Given the description of an element on the screen output the (x, y) to click on. 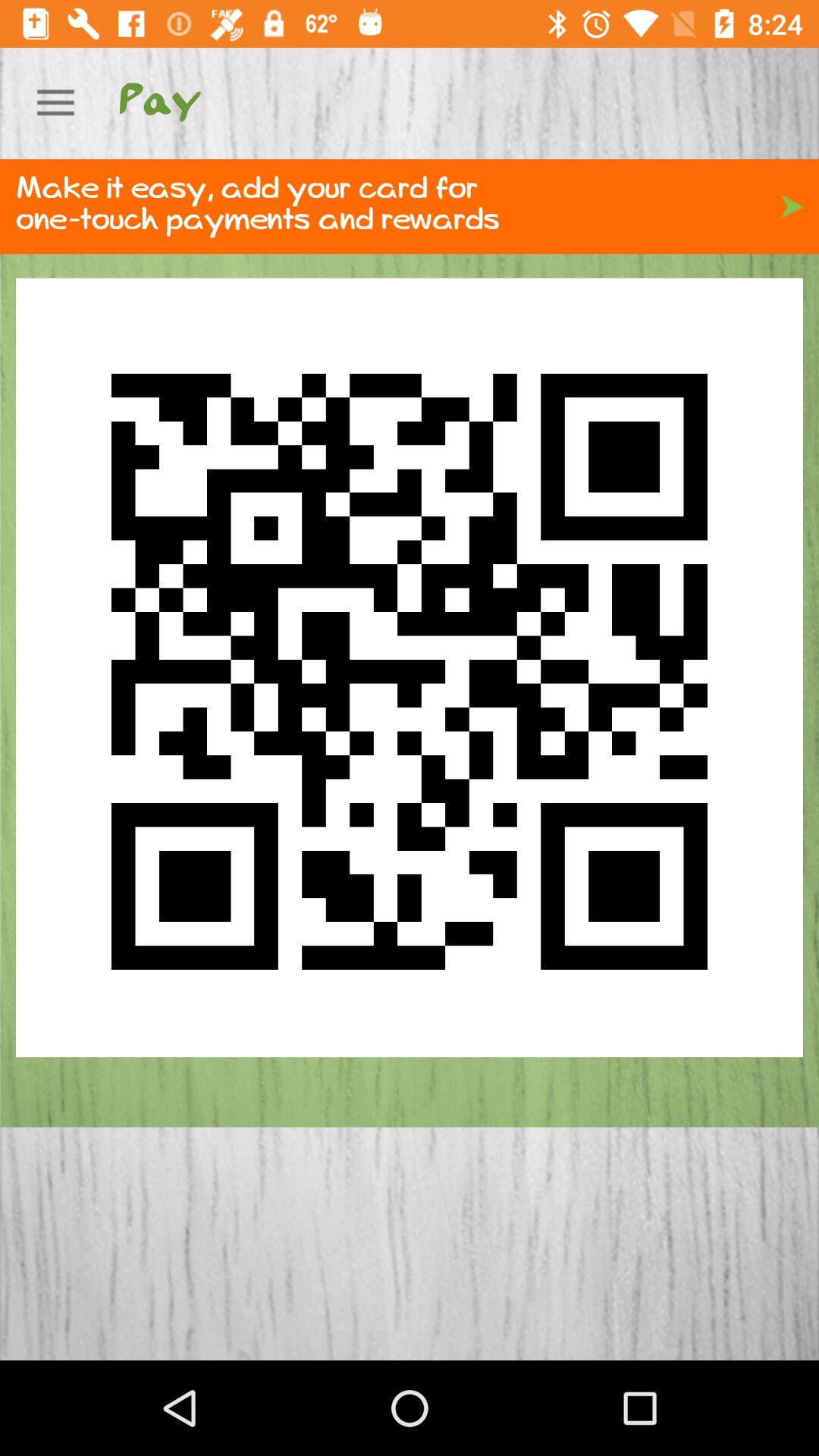
launch item above the make it easy item (55, 103)
